Given the description of an element on the screen output the (x, y) to click on. 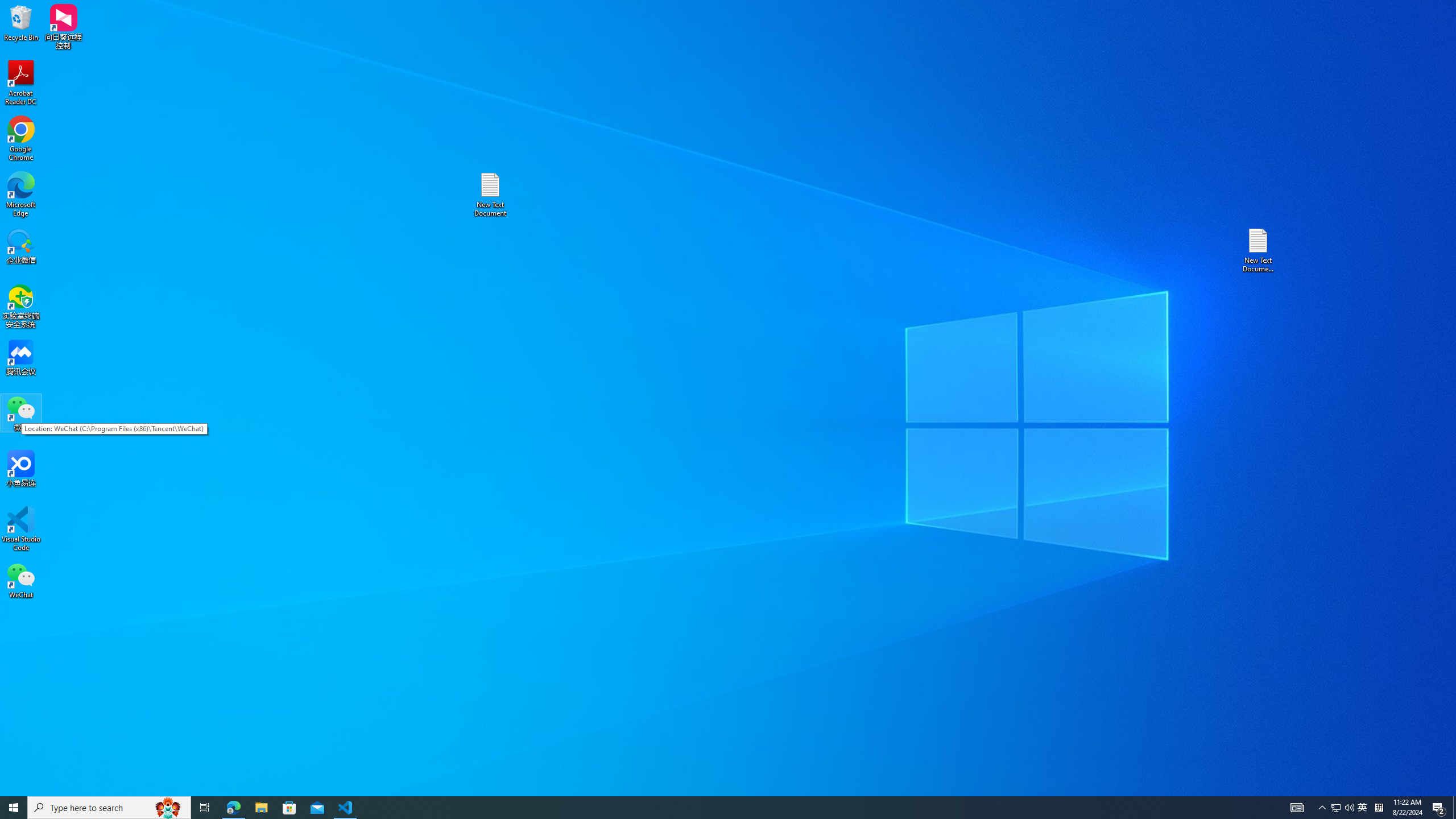
Action Center, 2 new notifications (1439, 807)
New Text Document (2) (1258, 250)
WeChat (21, 580)
